Given the description of an element on the screen output the (x, y) to click on. 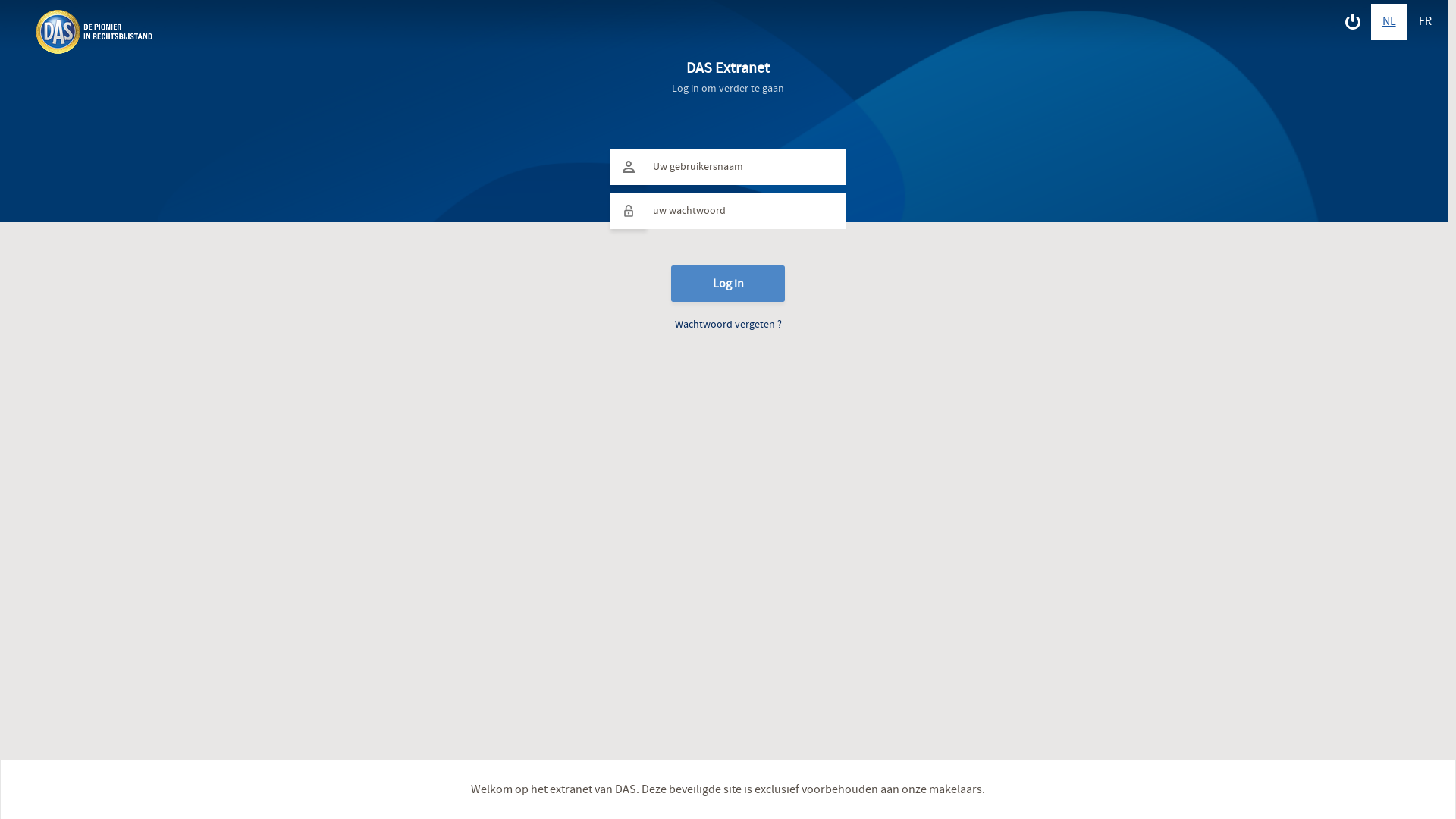
Afsluiten Element type: hover (1352, 21)
FR Element type: text (1425, 21)
Log in Element type: text (727, 283)
NL Element type: text (1389, 21)
Wachtwoord vergeten ? Element type: text (727, 328)
